Given the description of an element on the screen output the (x, y) to click on. 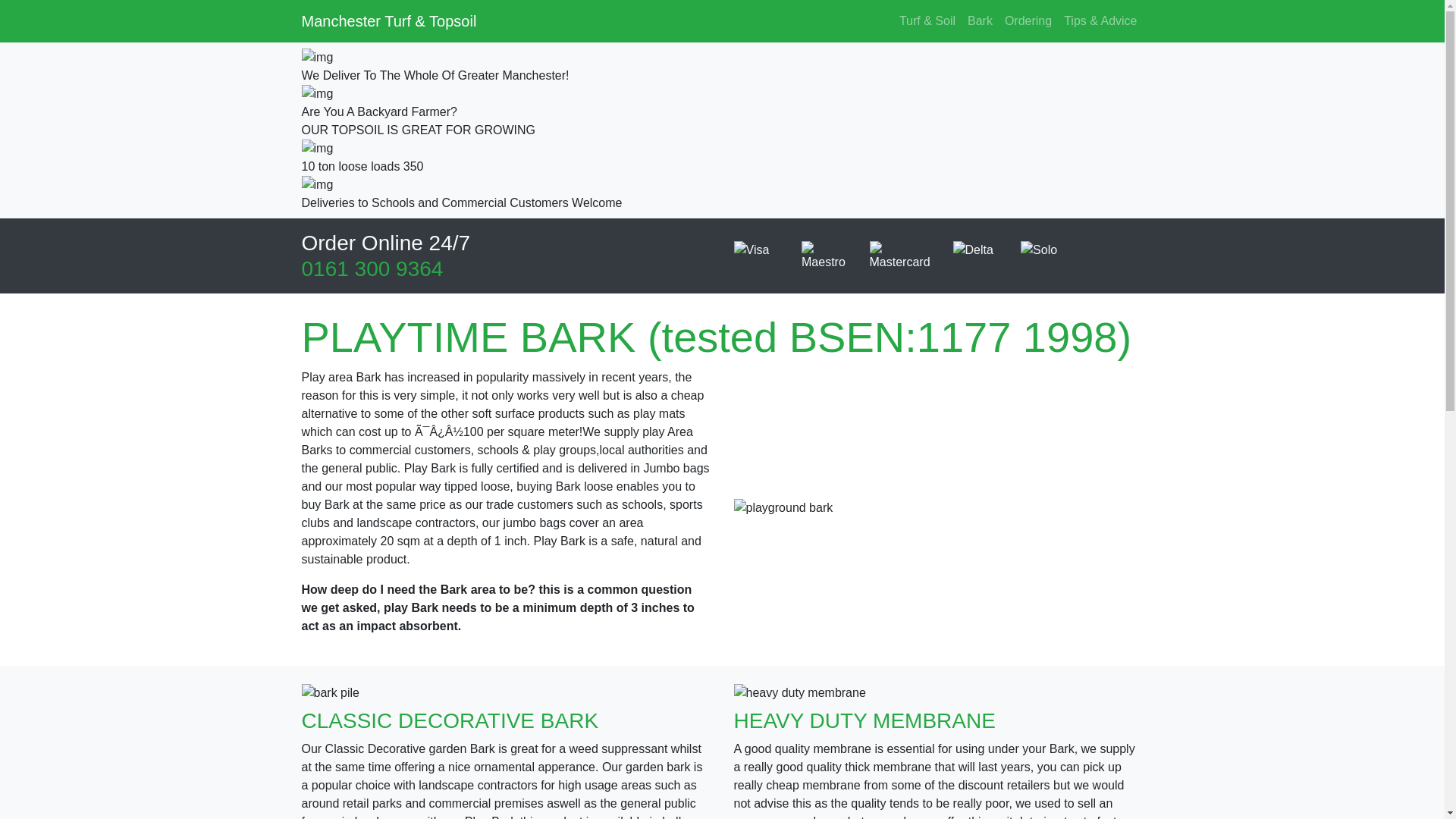
Ordering (1028, 20)
0161 300 9364 (372, 268)
Bark (979, 20)
